Given the description of an element on the screen output the (x, y) to click on. 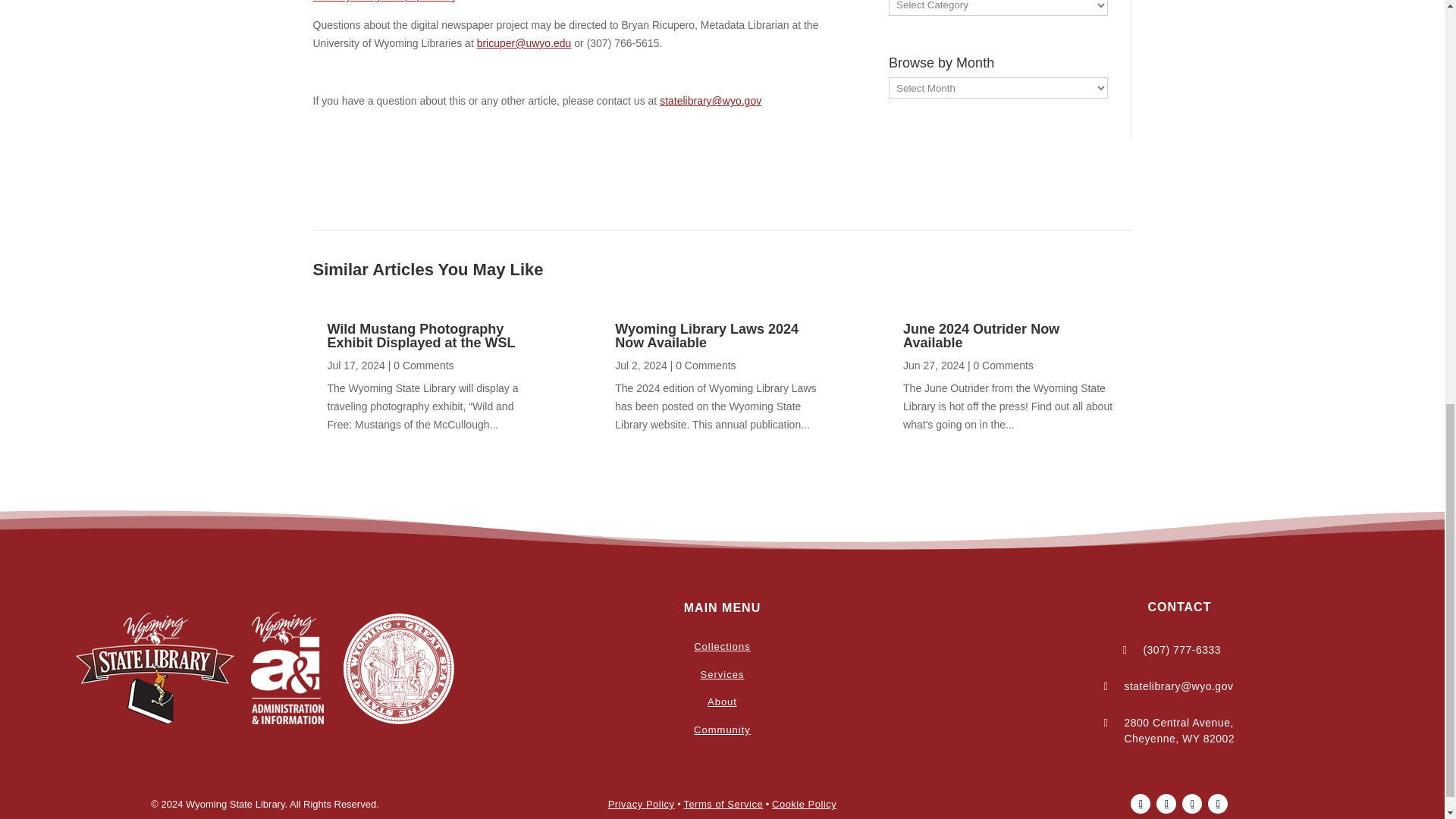
footer-logos (264, 668)
Follow on X (1166, 803)
Follow on Youtube (1192, 803)
Follow on Facebook (1140, 803)
Follow on LinkedIn (1217, 803)
